Given the description of an element on the screen output the (x, y) to click on. 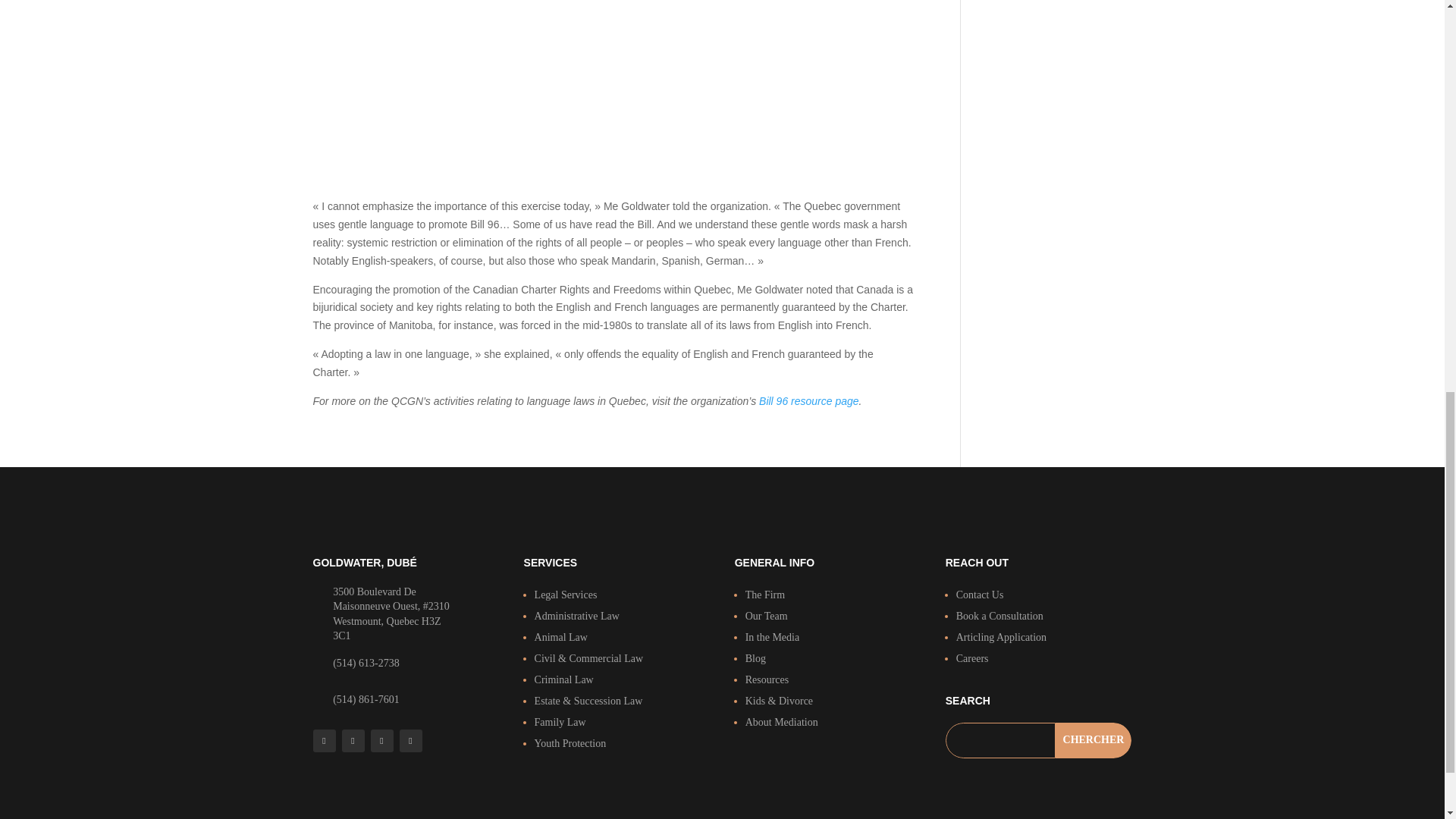
Chercher (1093, 740)
Suivez sur X (323, 740)
Suivez sur Instagram (381, 740)
Bill 96 resource page (808, 400)
Chercher (1093, 740)
Suivez sur LinkedIn (410, 740)
Suivez sur Facebook (352, 740)
